Given the description of an element on the screen output the (x, y) to click on. 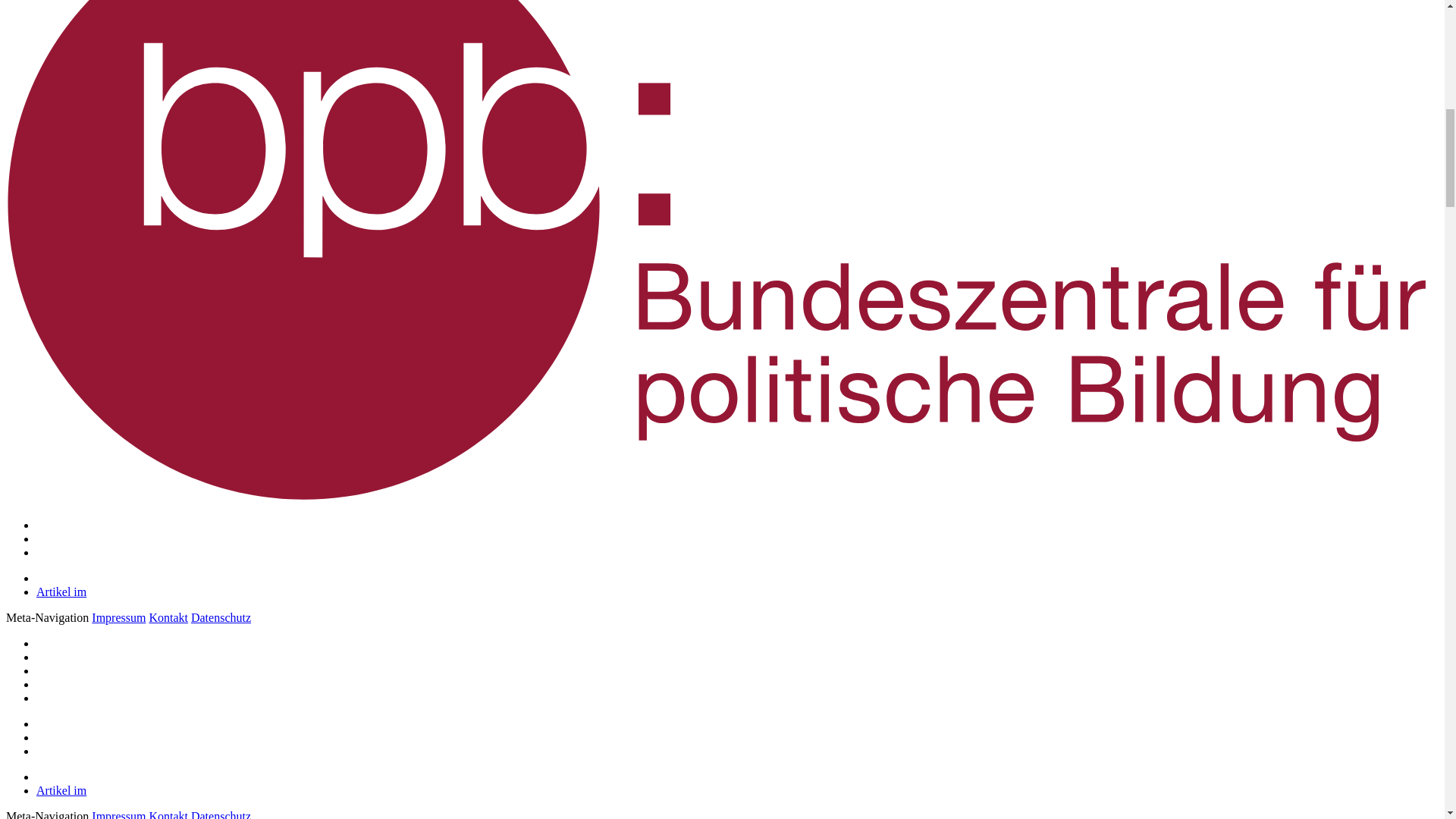
Datenschutz (220, 617)
Artikel im (60, 789)
Artikel im (60, 591)
Datenschutz (220, 814)
Kontakt (167, 814)
Impressum (118, 617)
Impressum (118, 814)
Kontakt (167, 617)
